Given the description of an element on the screen output the (x, y) to click on. 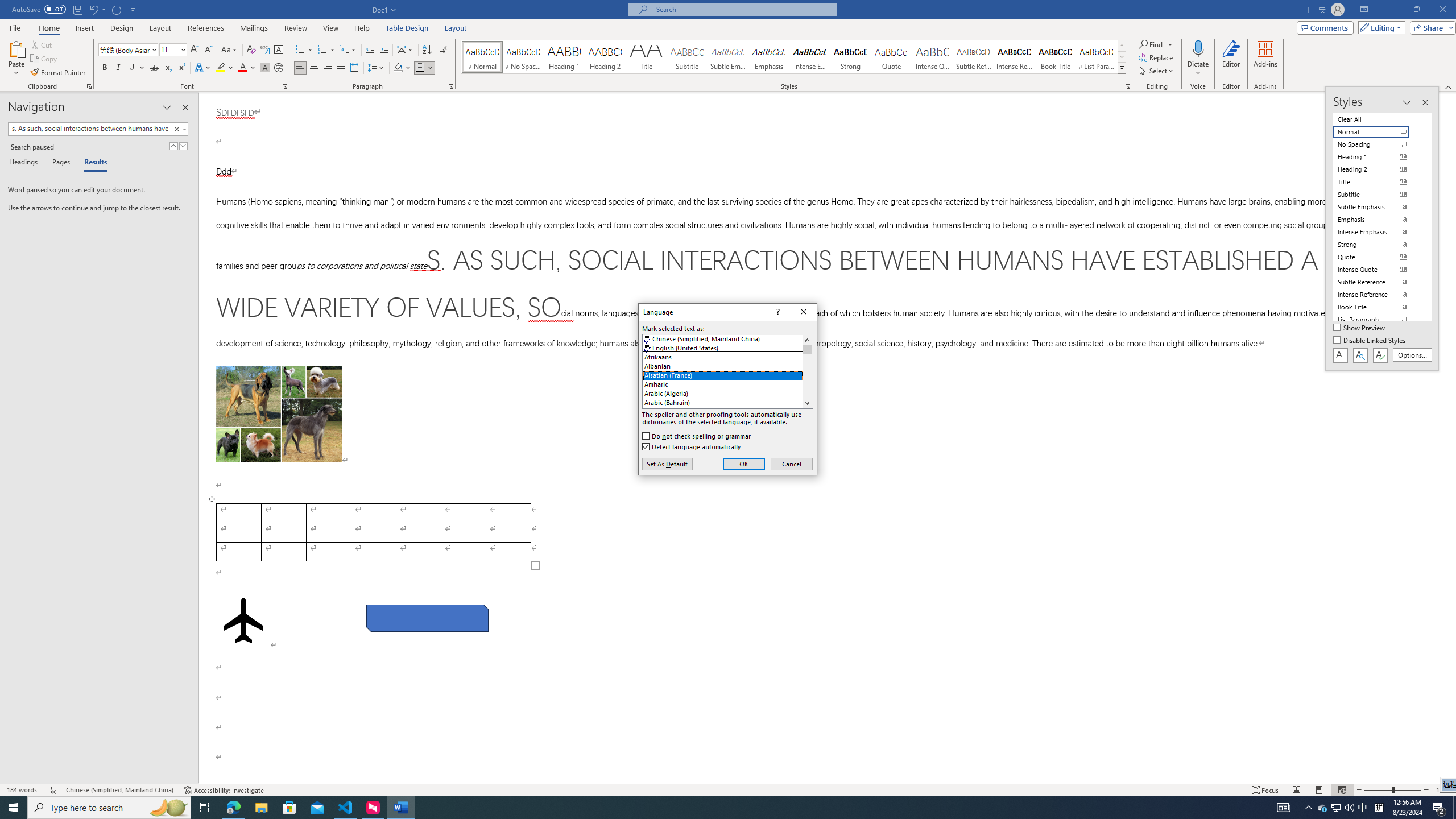
Zoom In (1426, 790)
Visual Studio Code - 1 running window (345, 807)
Asian Layout (405, 49)
Copy (45, 58)
Accessibility Checker Accessibility: Investigate (224, 790)
Intense Quote (932, 56)
Paragraph... (450, 85)
Search highlights icon opens search home window (167, 807)
Tray Input Indicator - Chinese (Simplified, China) (1378, 807)
Share (1430, 27)
Design (122, 28)
Select (1157, 69)
Font (128, 49)
Shading (402, 67)
